Given the description of an element on the screen output the (x, y) to click on. 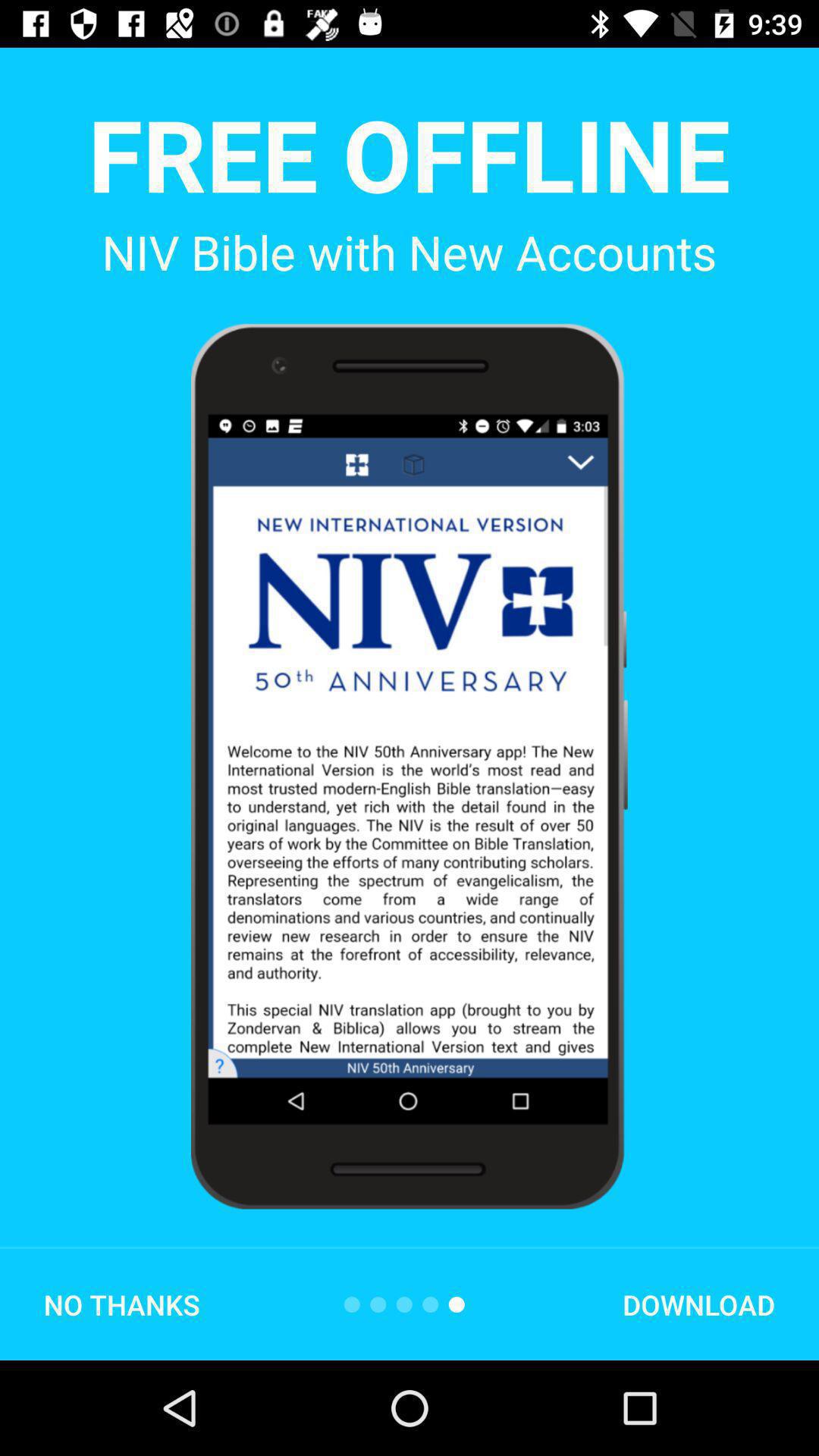
turn off the download at the bottom right corner (698, 1304)
